Given the description of an element on the screen output the (x, y) to click on. 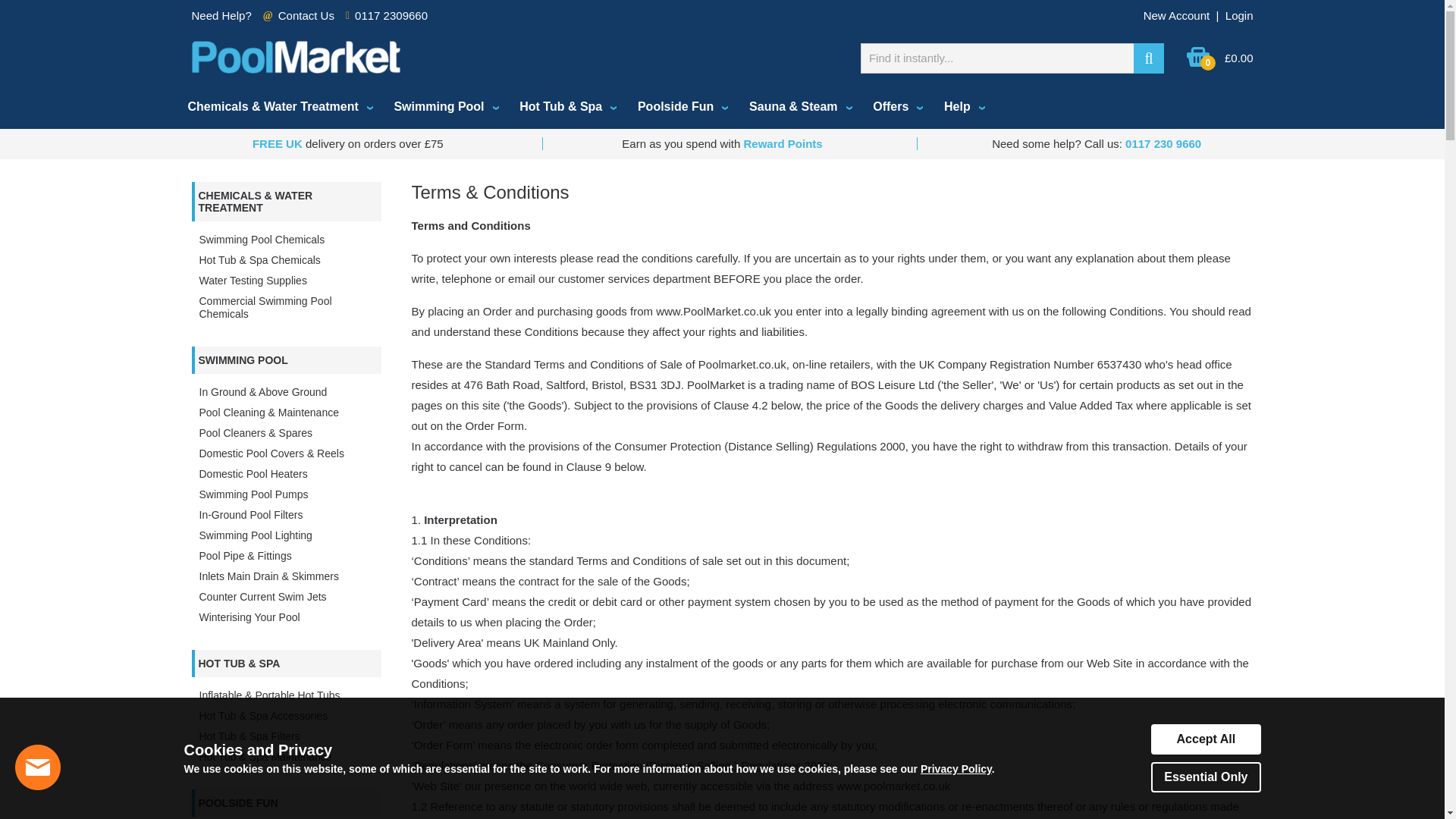
New Account (1175, 15)
0117 2309660 (391, 15)
0 (1197, 63)
Login (1239, 15)
Go (1148, 58)
Contact Us (306, 15)
Live chat offline (37, 767)
Swimming Pool (444, 106)
